Given the description of an element on the screen output the (x, y) to click on. 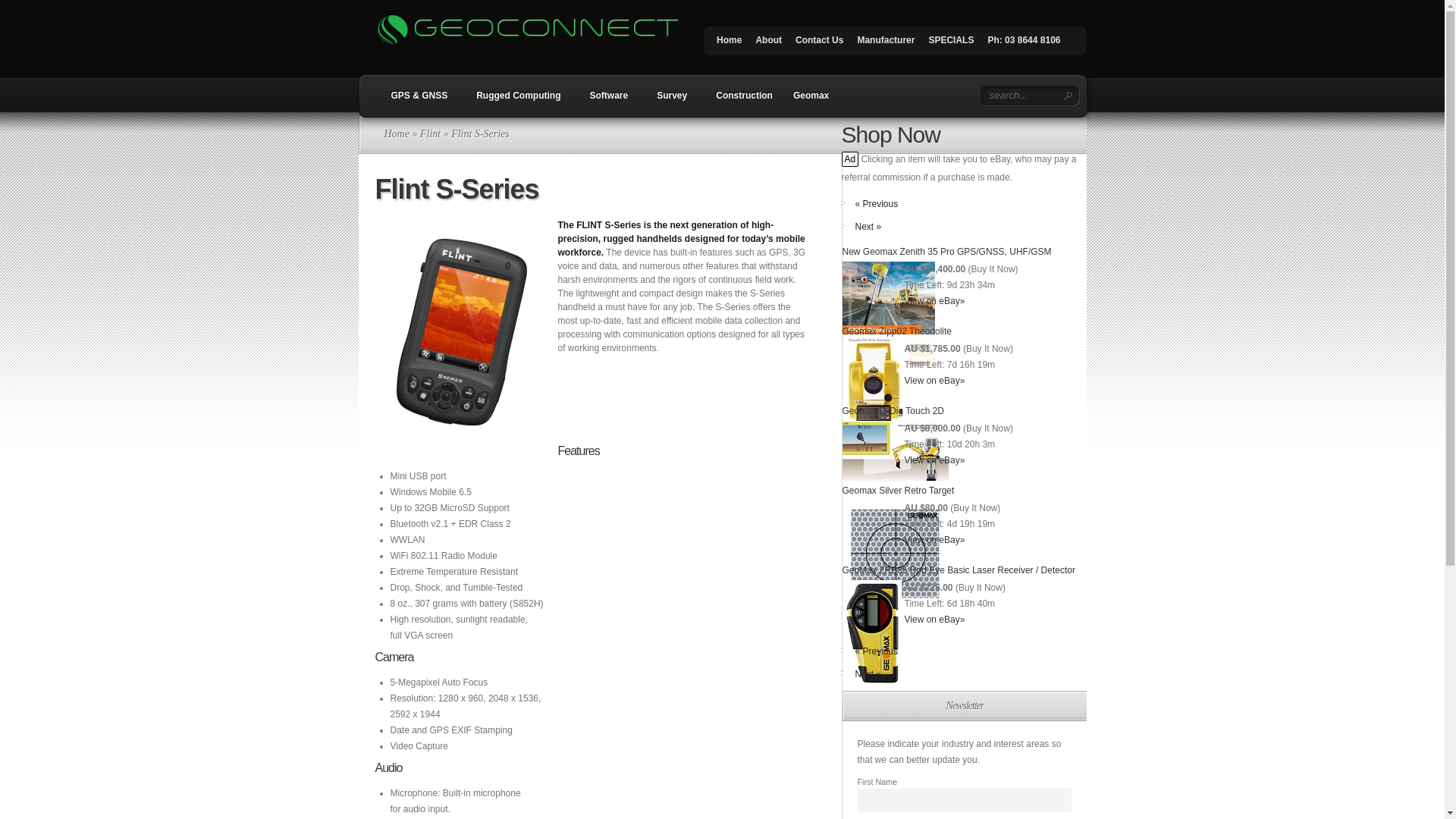
flint s series gps geoconnect Element type: hover (460, 331)
Geomax Element type: text (810, 100)
Ph: 03 8644 8106 Element type: text (1023, 43)
Contact Us Element type: text (819, 43)
Home Element type: text (395, 133)
Flint Element type: text (430, 133)
Rugged Computing Element type: text (514, 100)
Manufacturer Element type: text (885, 43)
Geomax Zipp02 Theodolite Element type: text (896, 331)
Survey Element type: text (668, 100)
GeoMax ZRB35 Rod Eye Basic Laser Receiver / Detector Element type: text (957, 569)
Software Element type: text (604, 100)
Geomax Silver Retro Target Element type: text (897, 490)
About Element type: text (768, 43)
New Geomax Zenith 35 Pro GPS/GNSS, UHF/GSM Element type: text (946, 251)
SPECIALS Element type: text (950, 43)
Geomax ExDig Touch 2D Element type: text (892, 410)
Home Element type: text (728, 43)
GPS & GNSS Element type: text (415, 100)
Construction Element type: text (740, 100)
